Given the description of an element on the screen output the (x, y) to click on. 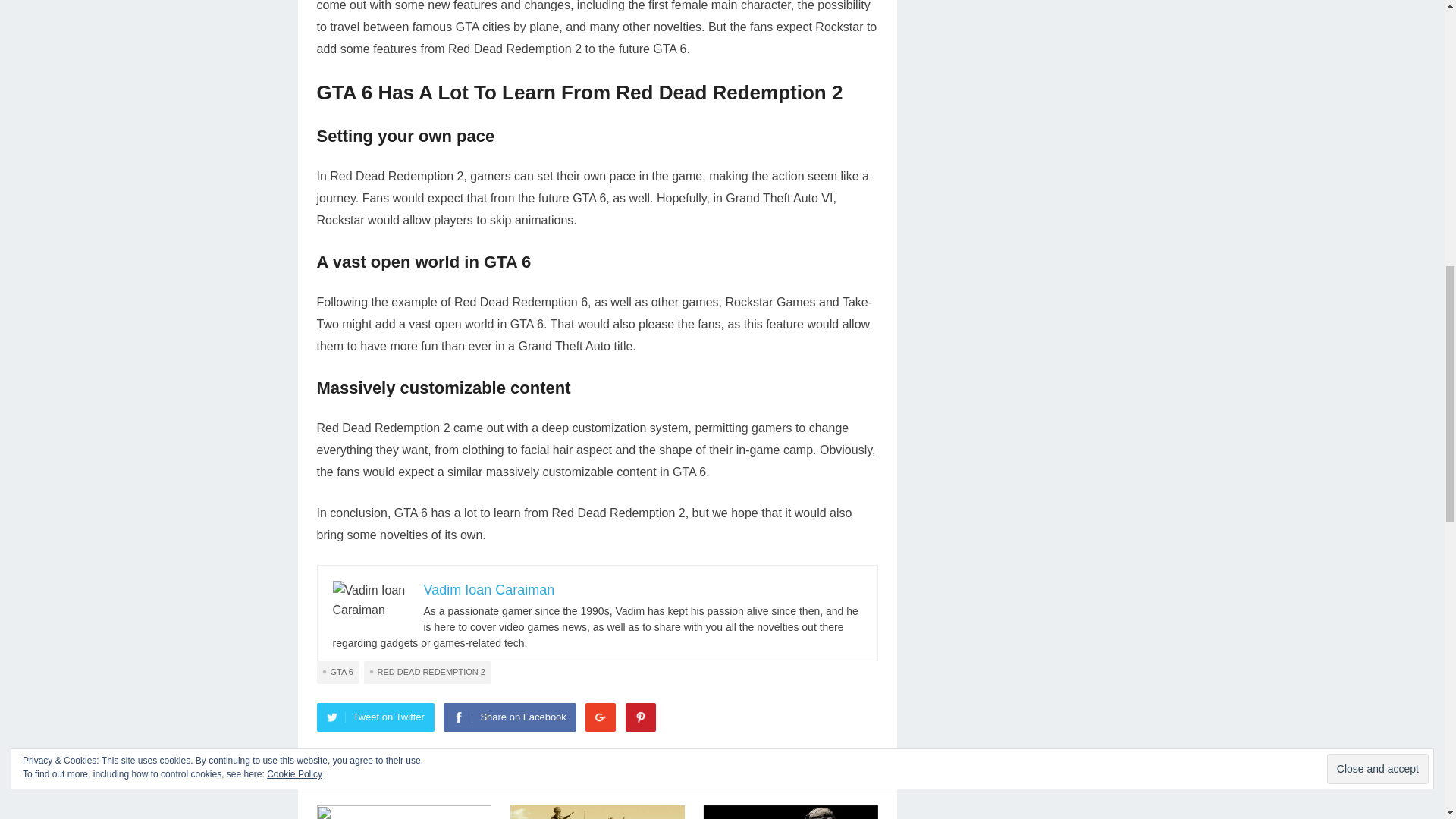
Share on Facebook (509, 717)
Vadim Ioan Caraiman (488, 589)
RED DEAD REDEMPTION 2 (428, 671)
Tweet on Twitter (375, 717)
Pinterest (641, 717)
GTA 6 (338, 671)
